Given the description of an element on the screen output the (x, y) to click on. 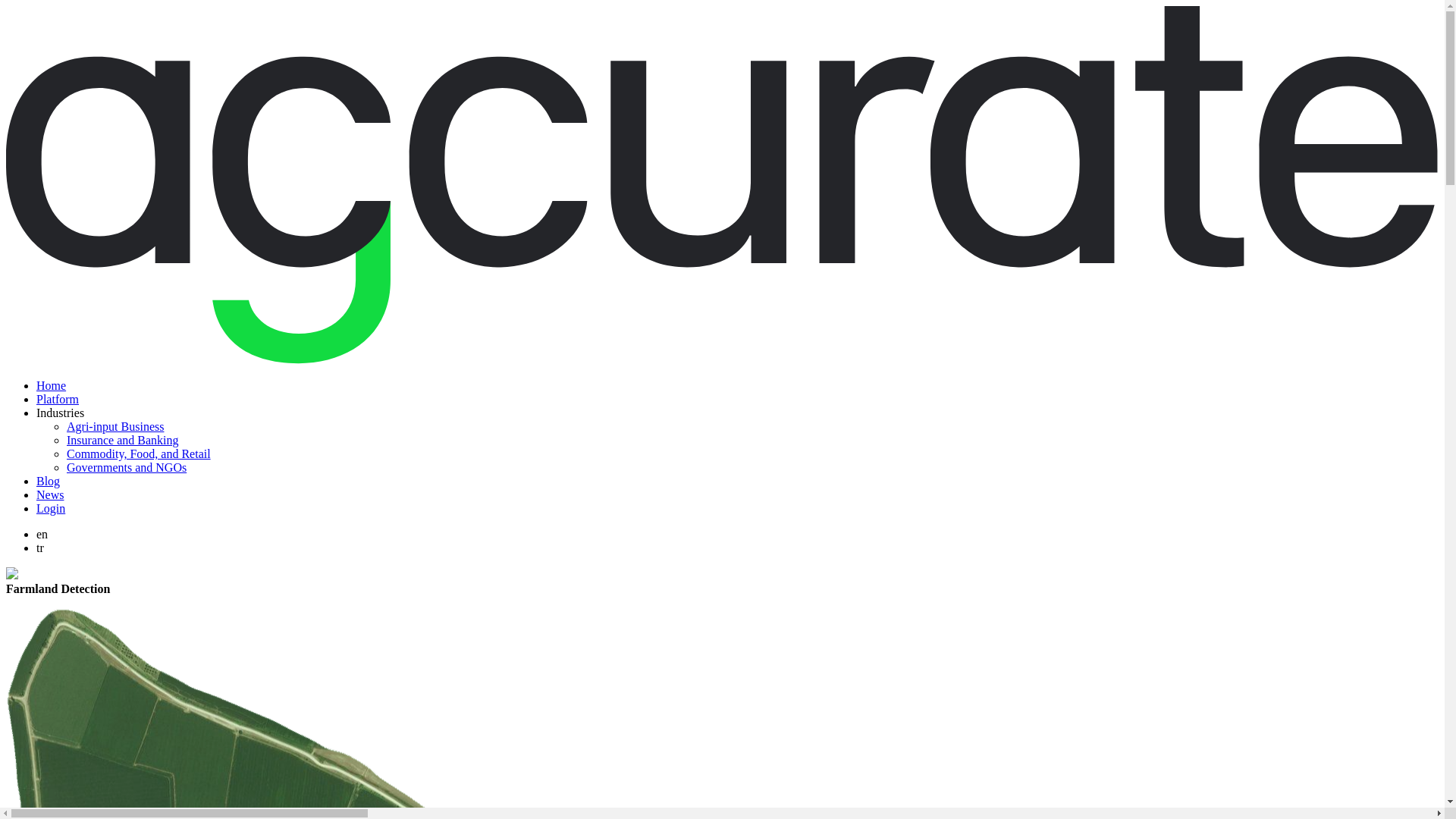
Industries (60, 412)
Home (50, 385)
Login (50, 508)
Governments and NGOs (126, 467)
Agri-input Business (114, 426)
Insurance and Banking (122, 440)
News (50, 494)
Platform (57, 399)
Commodity, Food, and Retail (138, 453)
tr (39, 547)
Blog (47, 481)
en (42, 533)
